Given the description of an element on the screen output the (x, y) to click on. 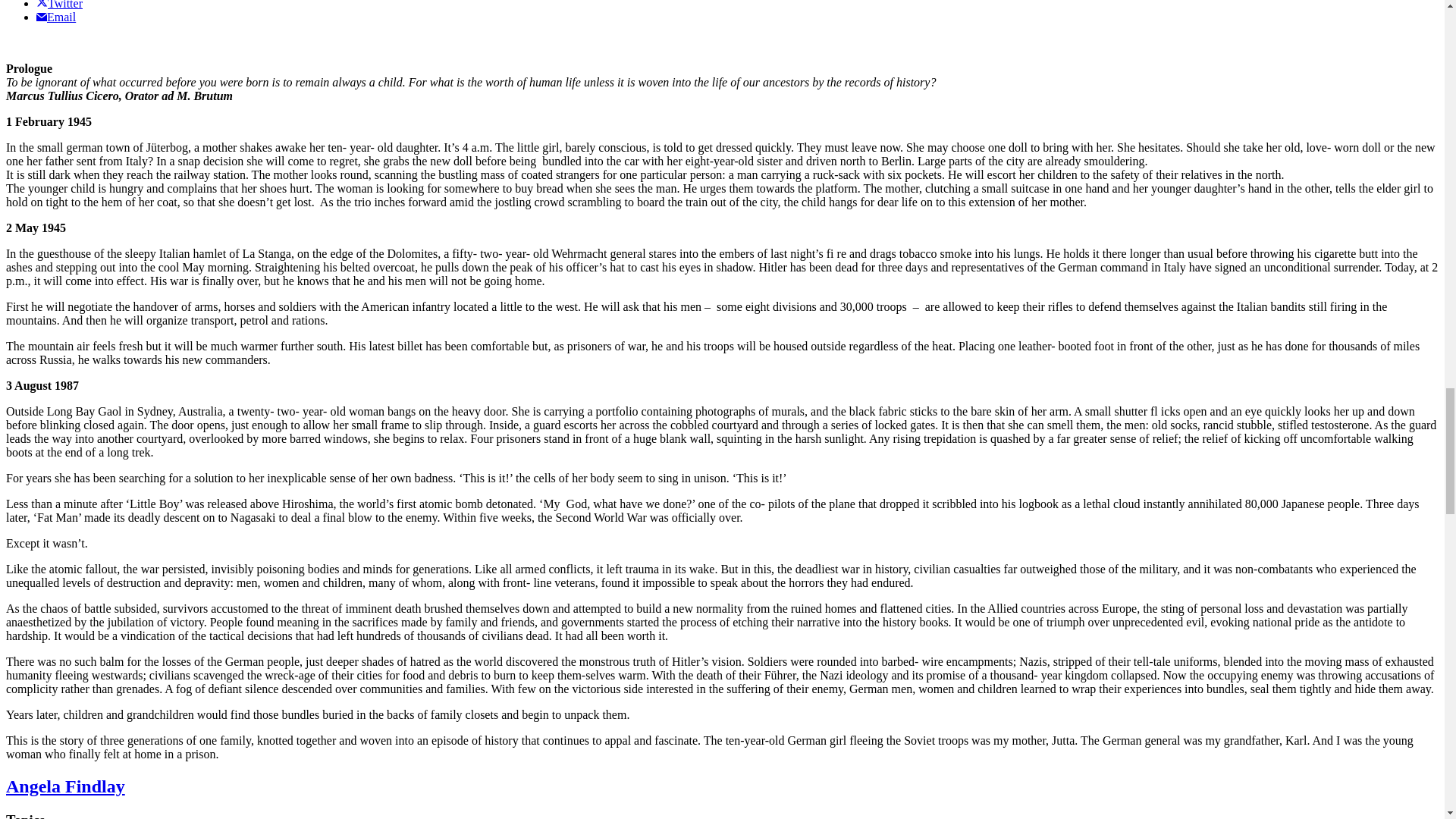
Email (55, 16)
Twitter (59, 4)
